Given the description of an element on the screen output the (x, y) to click on. 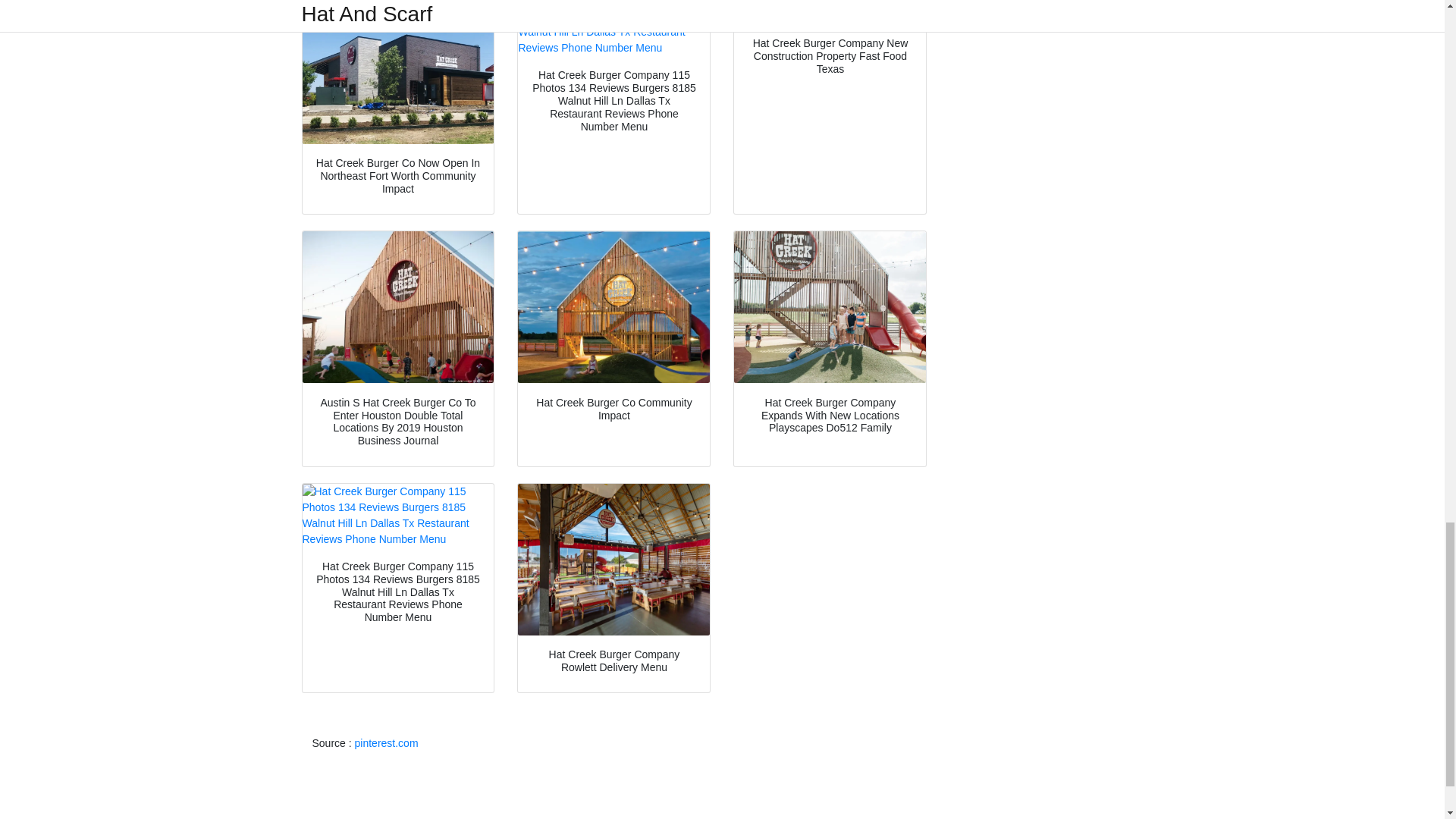
pinterest.com (387, 743)
